Given the description of an element on the screen output the (x, y) to click on. 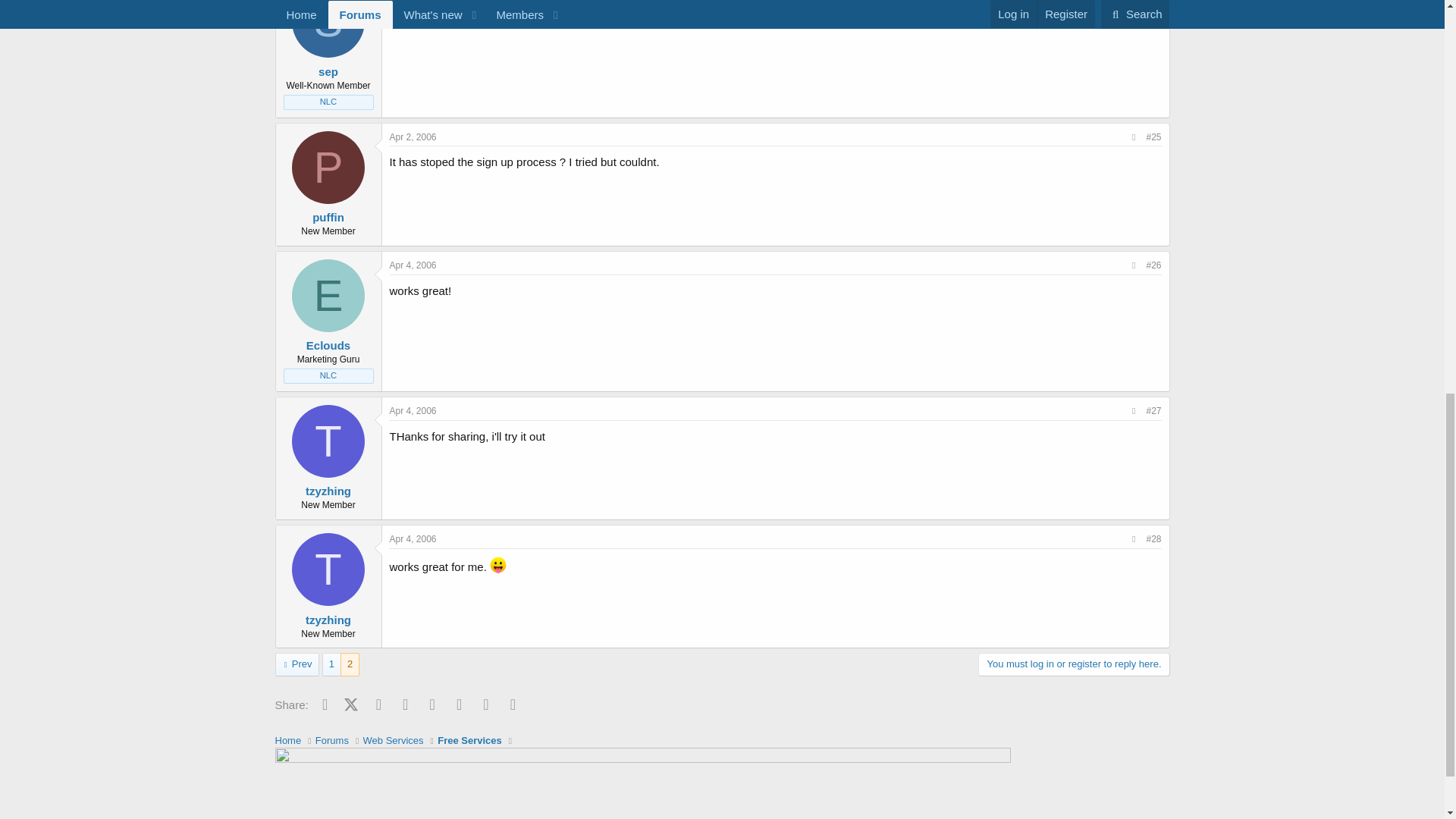
Apr 4, 2006 at 12:57 AM (413, 265)
Stick Out Tongue    :p (497, 564)
Apr 4, 2006 at 10:25 AM (413, 538)
Apr 2, 2006 at 7:04 AM (413, 136)
Apr 4, 2006 at 10:14 AM (413, 410)
